Given the description of an element on the screen output the (x, y) to click on. 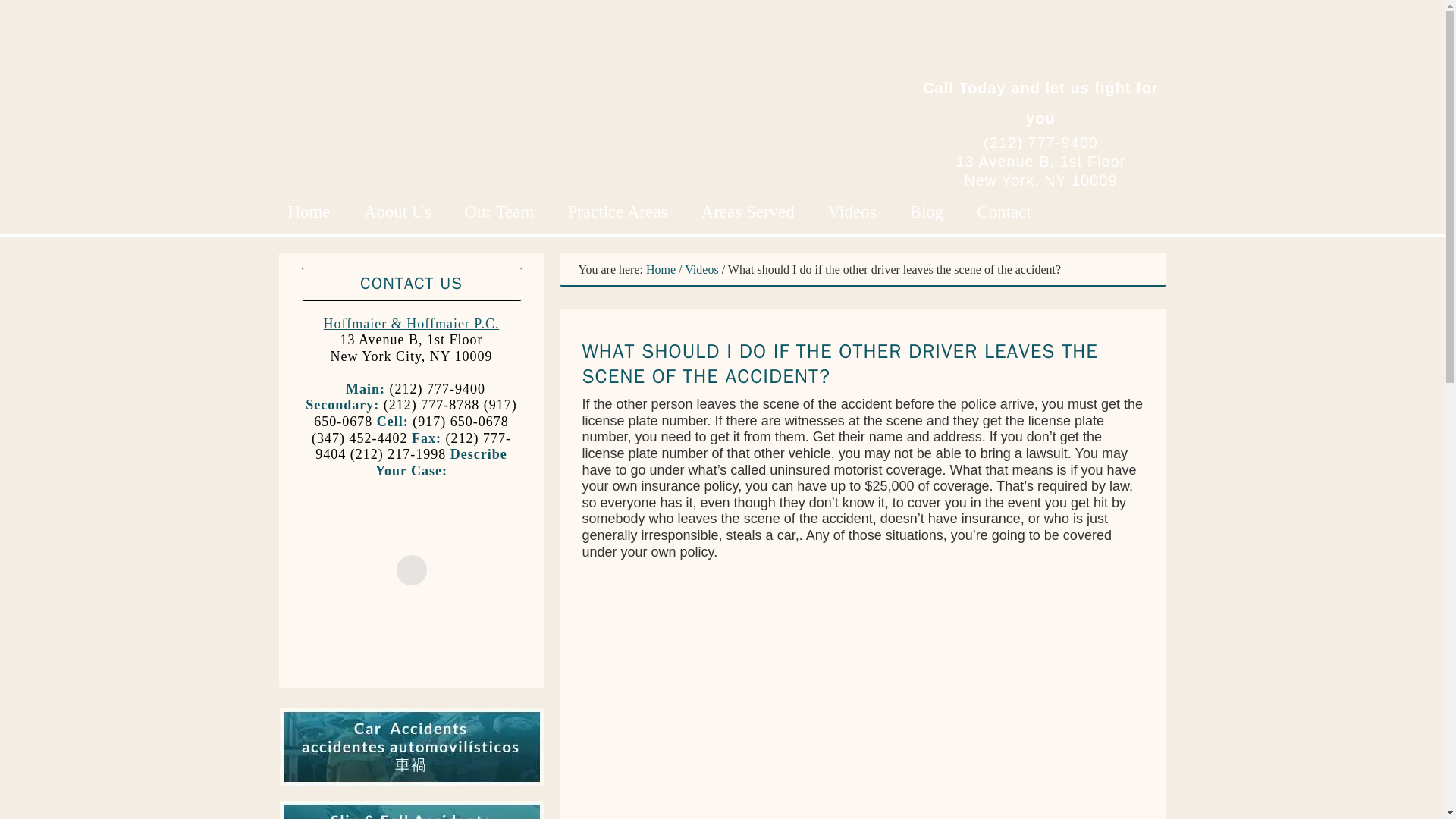
Areas Served (747, 211)
Car Accidents (411, 785)
Practice Areas (617, 211)
Our Team (499, 211)
About Us (397, 211)
Home (308, 211)
